Given the description of an element on the screen output the (x, y) to click on. 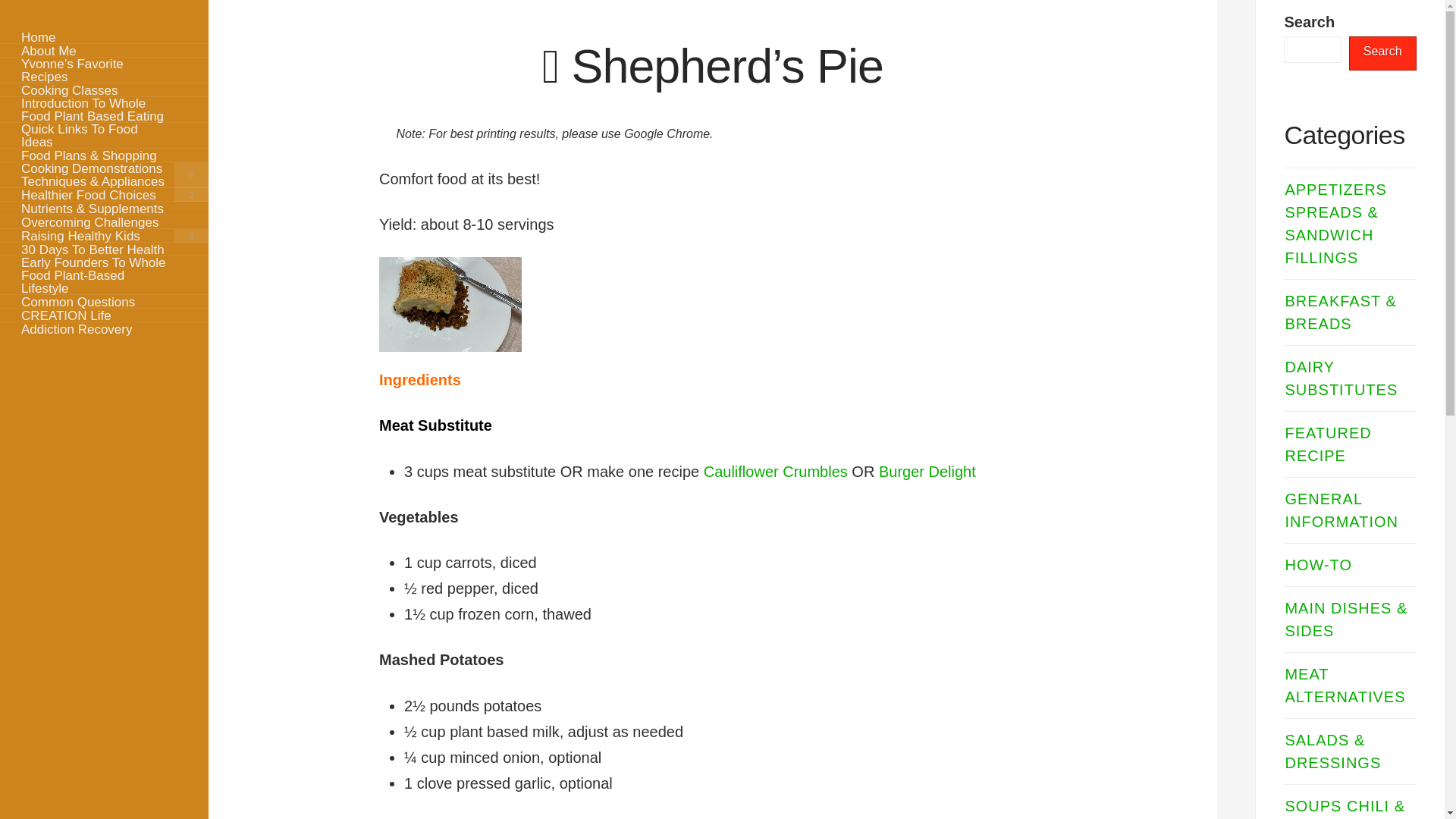
About Me (104, 50)
Overcoming Challenges (104, 222)
Introduction To Whole Food Plant Based Eating (104, 109)
Early Founders To Whole Food Plant-Based Lifestyle (104, 275)
Quick Links To Food Ideas (104, 135)
Common Questions (104, 301)
Healthier Food Choices (104, 194)
Raising Healthy Kids (104, 235)
Burger Delight (927, 471)
Home (104, 37)
